Given the description of an element on the screen output the (x, y) to click on. 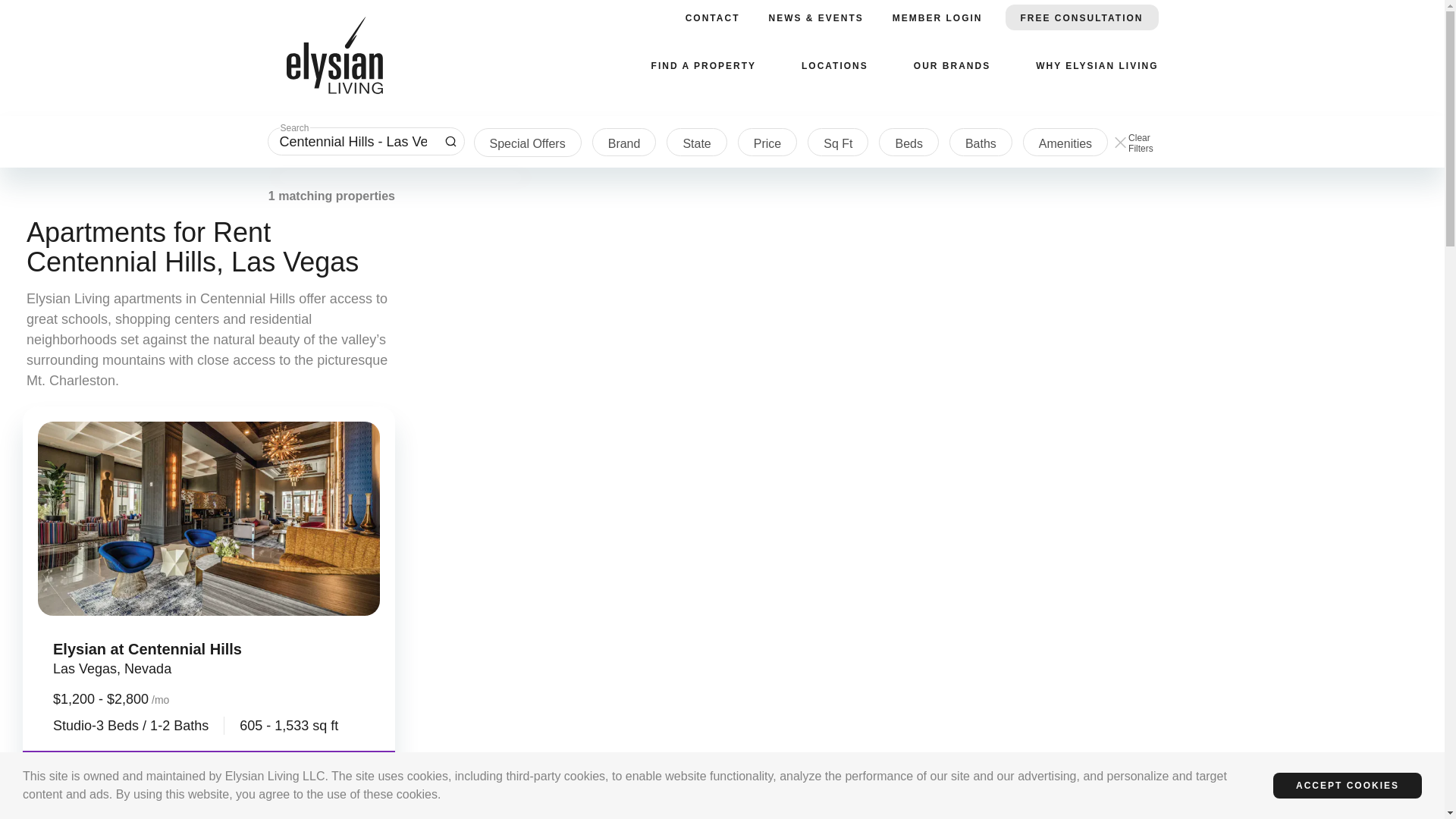
Mapbox (1279, 813)
Improve this map (1406, 813)
OUR BRANDS (952, 65)
OpenStreetMap (1334, 813)
Centennial Hills - Las Vegas, NV (352, 140)
WHY ELYSIAN LIVING (1096, 65)
LOCATIONS (834, 65)
FIND A PROPERTY (702, 65)
Centennial Hills - Las Vegas, NV (352, 140)
CONTACT (712, 17)
MEMBER LOGIN (937, 17)
FIND A PROPERTY (451, 141)
FREE CONSULTATION (1082, 17)
